Given the description of an element on the screen output the (x, y) to click on. 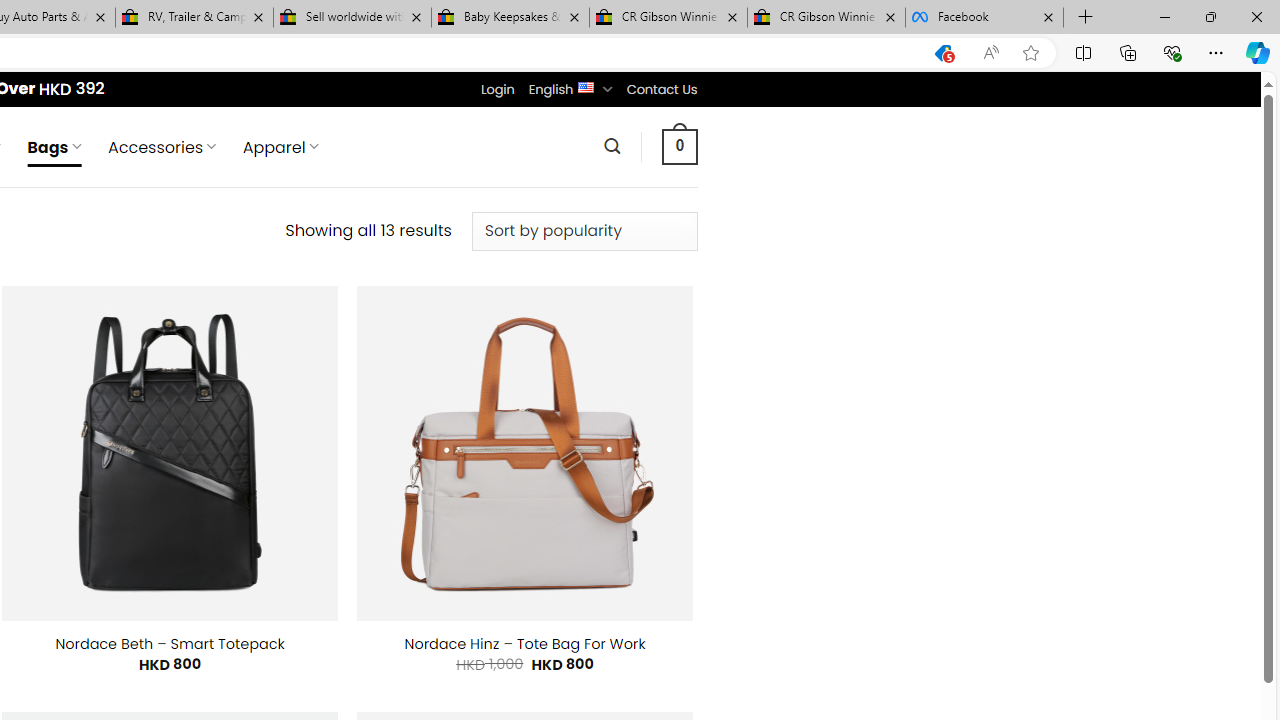
Login (497, 89)
Contact Us (661, 89)
Sell worldwide with eBay (352, 17)
